Given the description of an element on the screen output the (x, y) to click on. 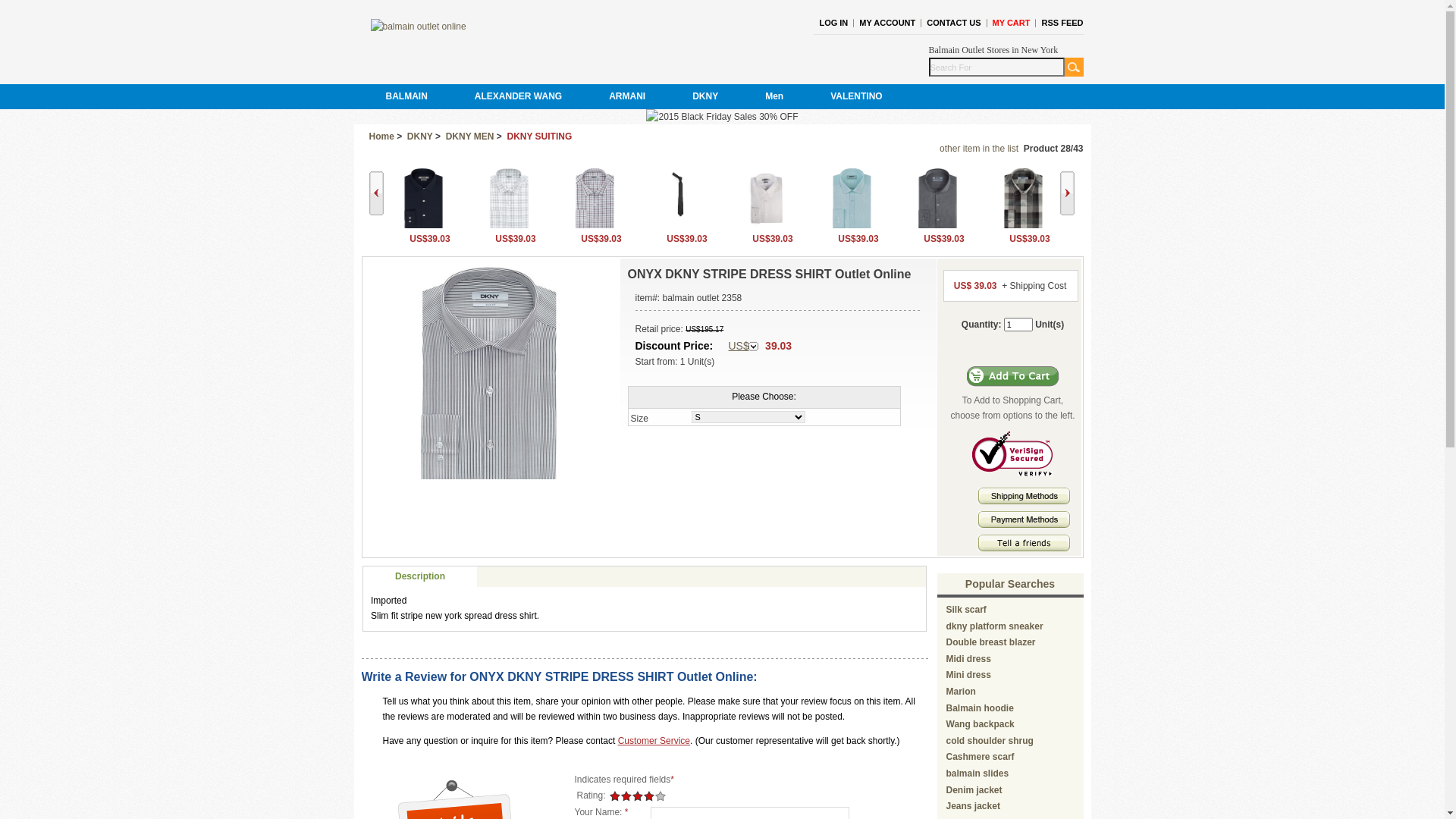
 CEMENT DKNY TWEED TIE Outlet Online  Element type: hover (679, 198)
Double breast blazer Element type: text (990, 642)
other item in the list Element type: text (978, 148)
GO Element type: text (1073, 66)
Jeans jacket Element type: text (973, 805)
Men Element type: text (774, 96)
Add to Cart Element type: hover (1012, 376)
 Tell A Friends  Element type: hover (1024, 542)
Silk scarf Element type: text (966, 609)
 STONE DKNY STRIPED CHECK DRESS SHIRT Outlet Online  Element type: hover (508, 198)
BALMAIN Element type: text (405, 96)
DKNY Element type: text (420, 136)
Payment methods Element type: hover (1024, 524)
Balmain hoodie Element type: text (979, 707)
Mini dress Element type: text (968, 674)
Popular Searches Element type: text (1009, 583)
MY CART Element type: text (1011, 22)
RSS FEED Element type: text (1061, 22)
Customer Service Element type: text (654, 740)
 ONYX DKNY STRIPE DRESS SHIRT Outlet Online  Element type: hover (489, 373)
ALEXANDER WANG Element type: text (517, 96)
Shipping Methods Element type: hover (1024, 500)
 CARBON DKNY CUTAWAY COLLAR DRESS SHIRT Outlet Online  Element type: hover (937, 198)
DKNY SUITING Element type: text (538, 136)
Denim jacket Element type: text (974, 789)
Marion Element type: text (960, 691)
US$ Element type: text (742, 346)
VALENTINO Element type: text (855, 96)
Next Element type: hover (1067, 193)
Back Element type: hover (375, 193)
Home Element type: text (380, 136)
Cashmere scarf Element type: text (980, 756)
cold shoulder shrug Element type: text (989, 740)
 balmain outlet online  Element type: hover (417, 26)
dkny platform sneaker Element type: text (994, 626)
Wang backpack Element type: text (980, 723)
DKNY Element type: text (704, 96)
 WHITE DKNY CLASSIC SLIM FIT DRESS SHIRT Outlet Online  Element type: hover (766, 198)
Midi dress Element type: text (968, 658)
LOG IN Element type: text (833, 22)
 DEEP BLUE DKNY SOLID DOBBY DRESS SHIRT Outlet Online  Element type: hover (423, 198)
balmain slides Element type: text (977, 773)
CONTACT US Element type: text (953, 22)
ARMANI Element type: text (627, 96)
 Payment Methods  Element type: hover (1024, 519)
 SHADOW DKNY PLAID DRESS SHIRT Outlet Online  Element type: hover (1022, 198)
MY ACCOUNT Element type: text (887, 22)
 Shipping Methods  Element type: hover (1024, 495)
DKNY MEN Element type: text (469, 136)
 BOISENBERRY DKNY CHECK GRID DRESS SHIRT Outlet Online  Element type: hover (594, 198)
